Given the description of an element on the screen output the (x, y) to click on. 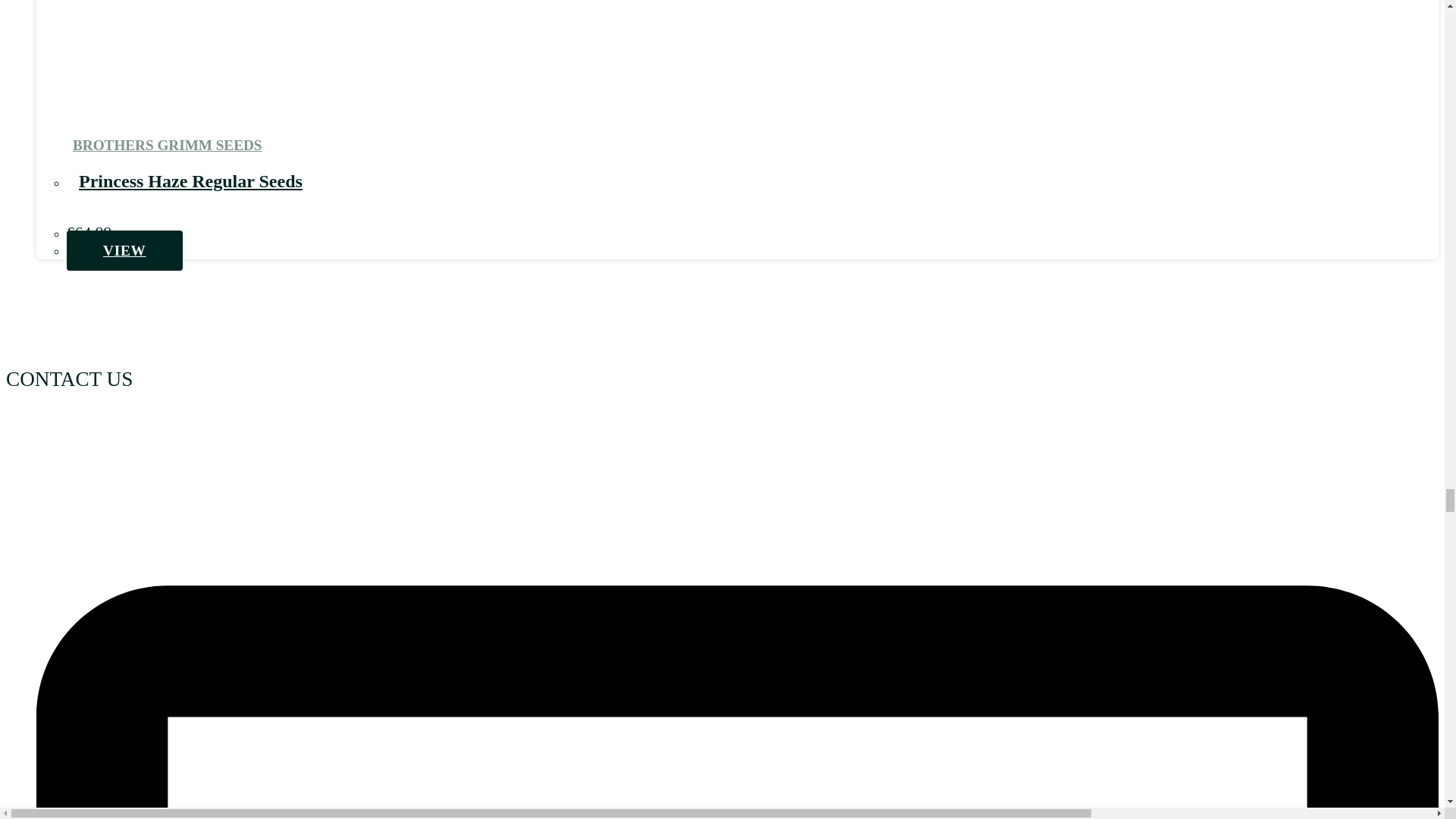
pips-seeds-white-3 (716, 316)
